Given the description of an element on the screen output the (x, y) to click on. 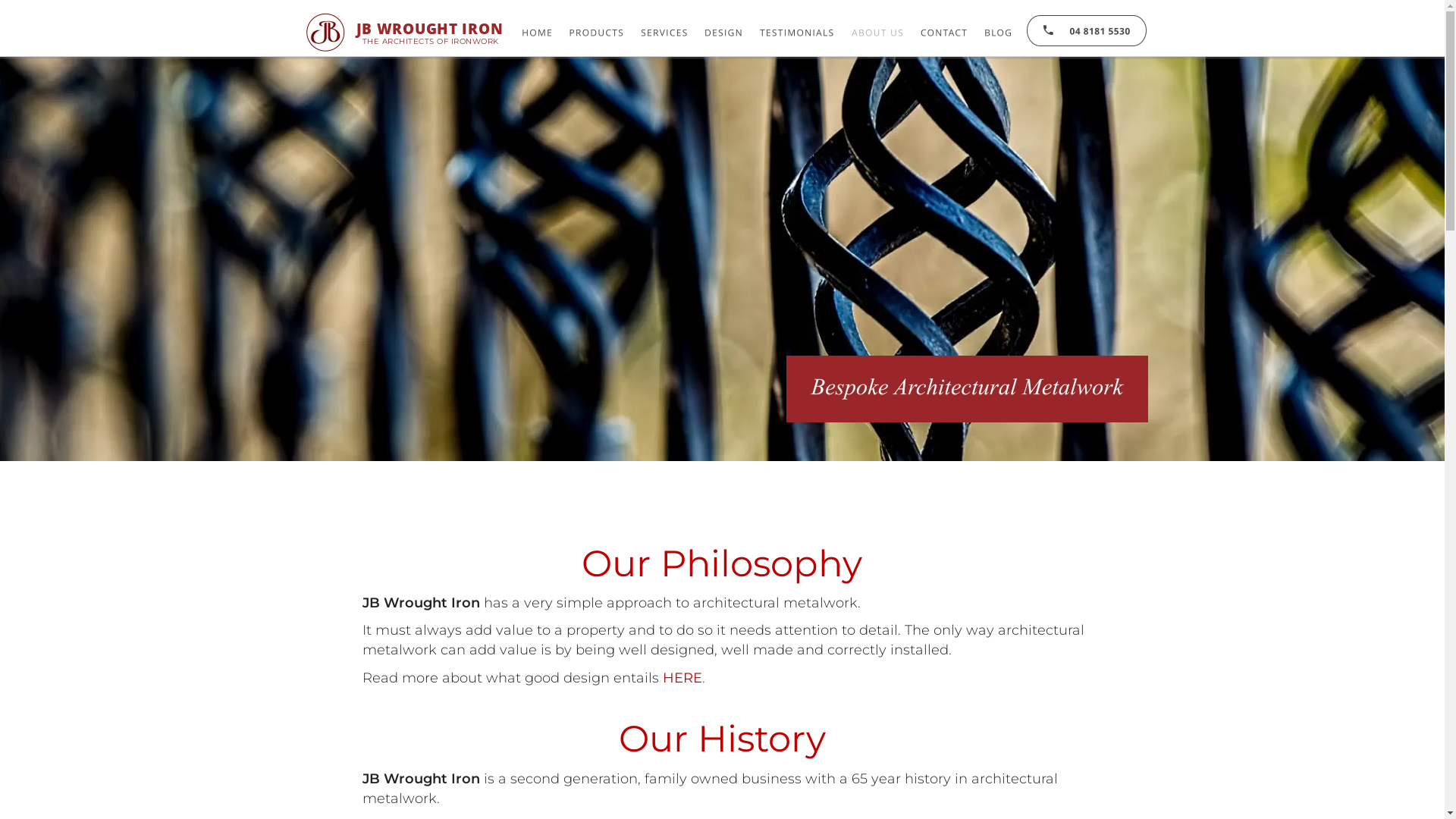
JB WROUGHT IRON Element type: text (429, 28)
HERE Element type: text (682, 677)
